Given the description of an element on the screen output the (x, y) to click on. 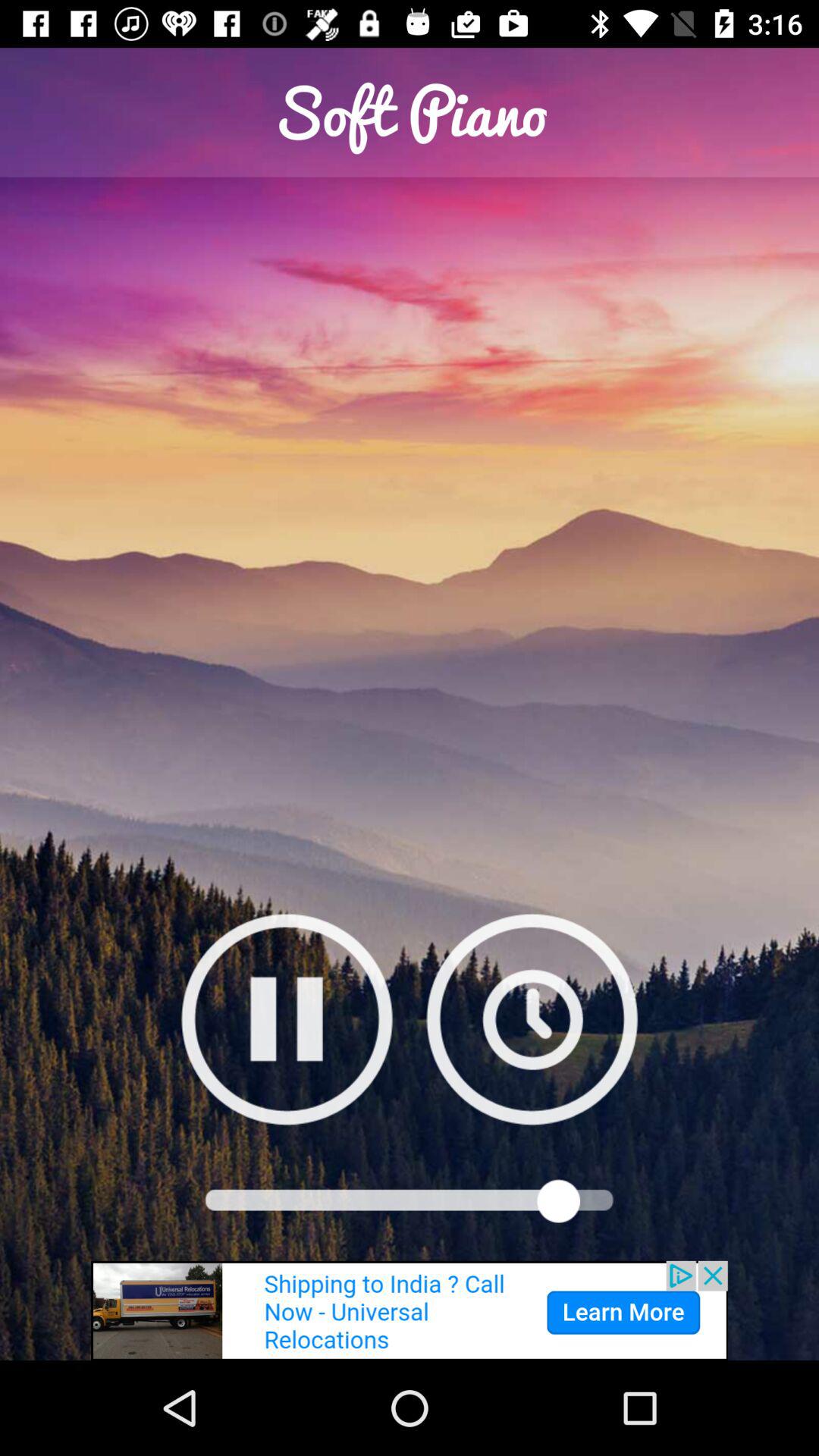
set timer (531, 1018)
